Given the description of an element on the screen output the (x, y) to click on. 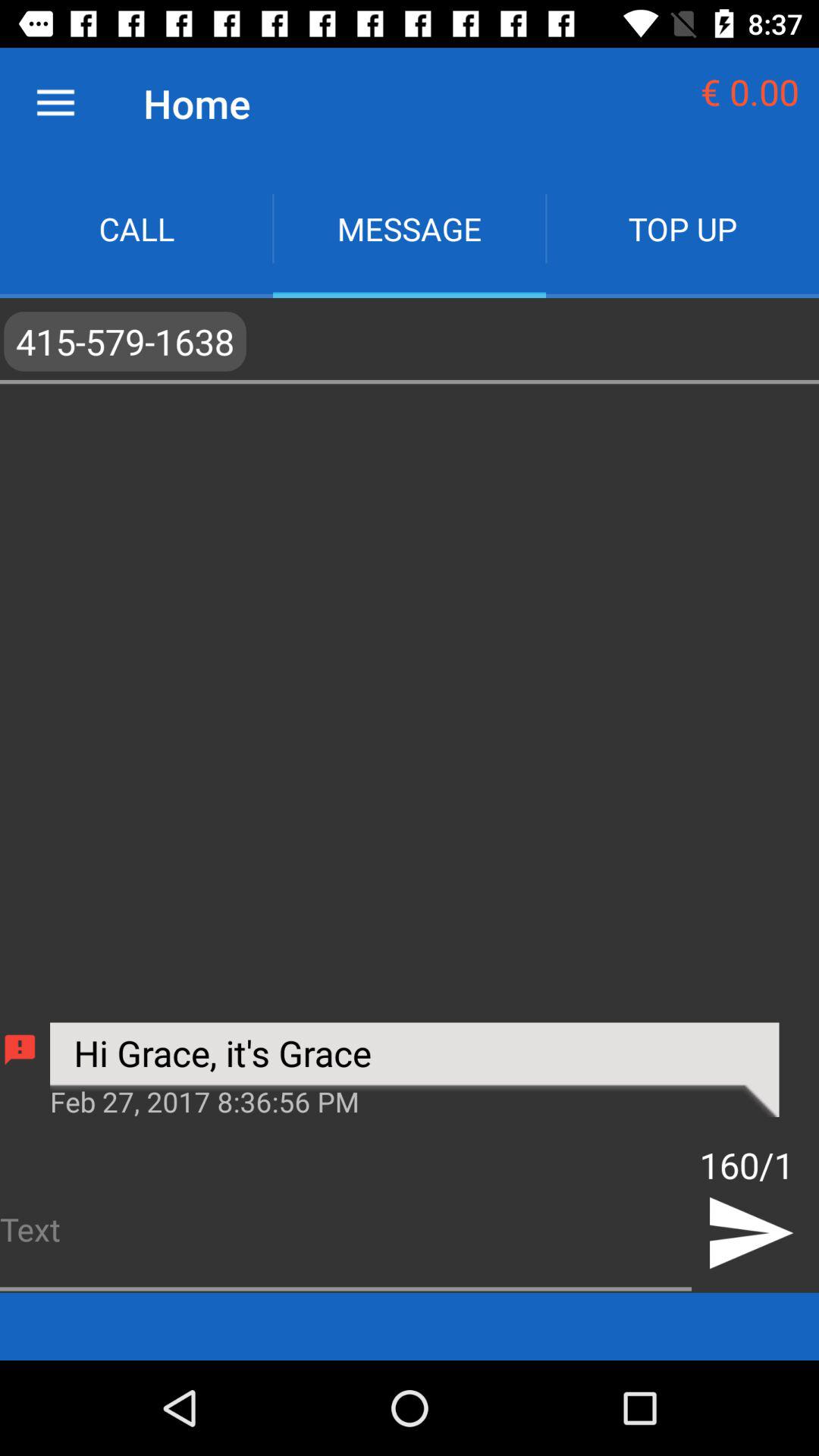
select item above ,415-579-1638,  icon (682, 228)
